Given the description of an element on the screen output the (x, y) to click on. 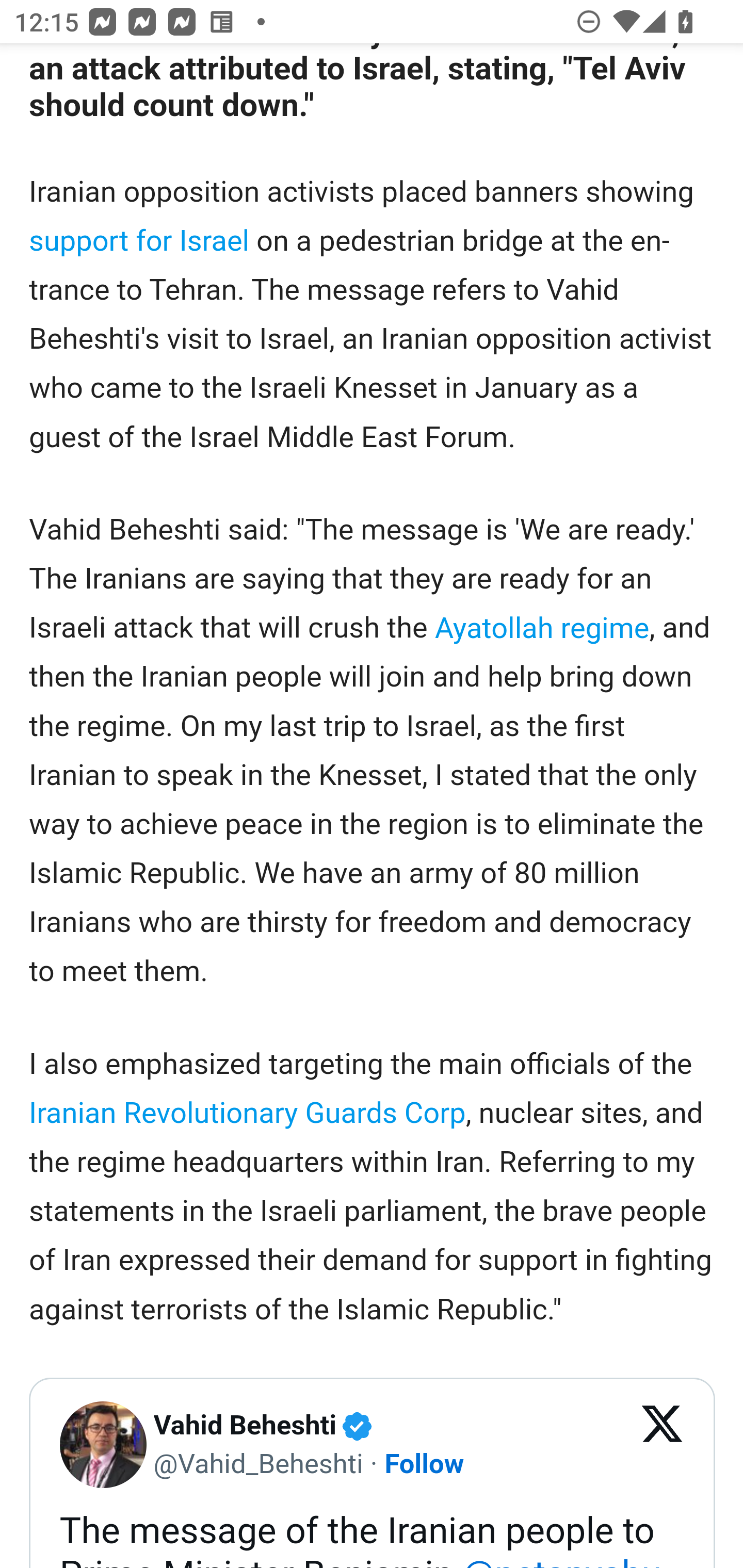
support for Israel (139, 240)
Ayatollah regime (541, 627)
Iranian Revolutionary Guards Corp (246, 1112)
View on X (662, 1444)
@Vahid_Beheshti (257, 1462)
Follow (423, 1462)
